Given the description of an element on the screen output the (x, y) to click on. 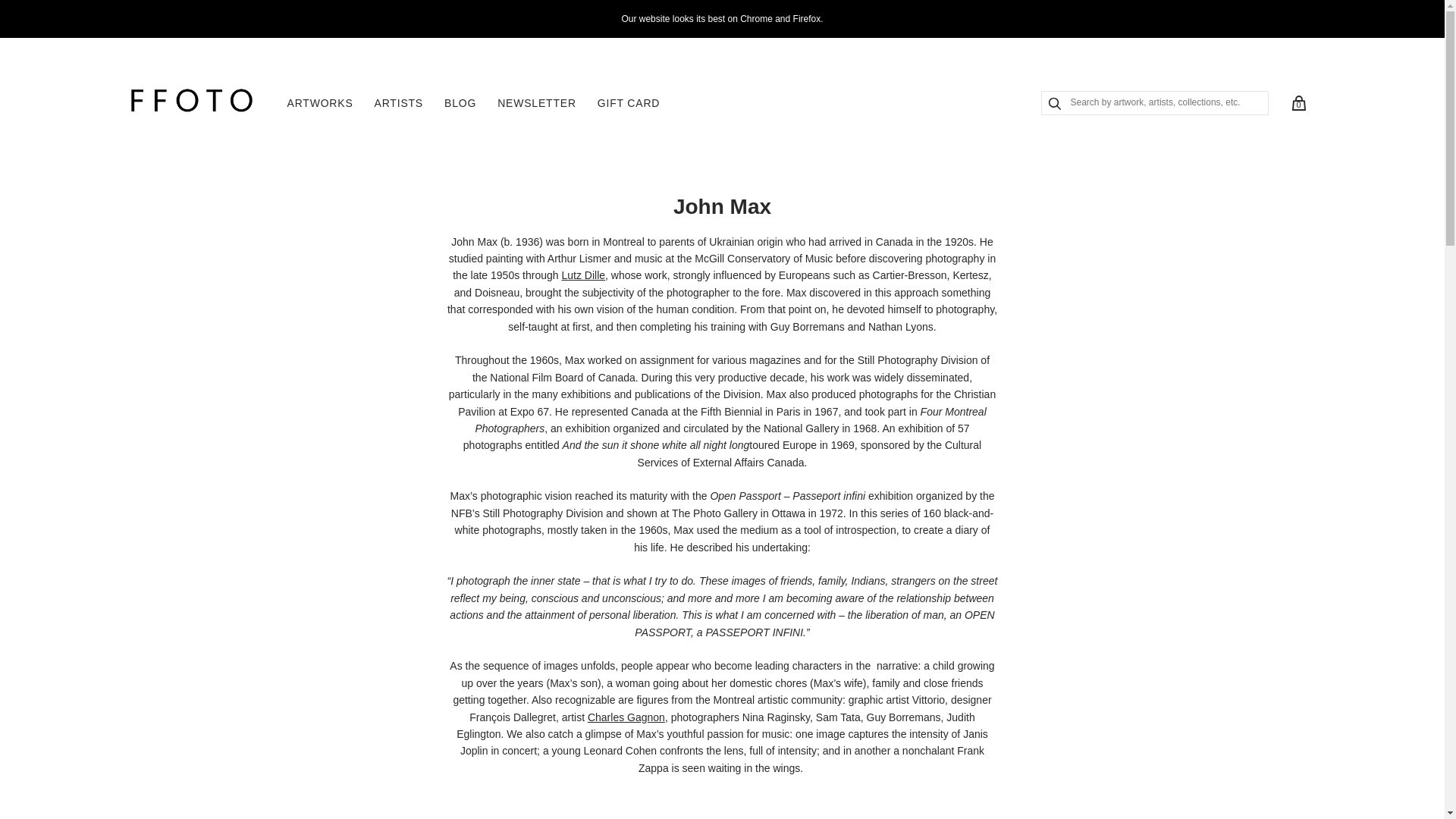
0 (1299, 102)
BLOG (459, 102)
Lutz Dille (582, 275)
ARTISTS (398, 102)
GIFT CARD (627, 102)
NEWSLETTER (536, 102)
ARTWORKS (319, 102)
Charles Gagnon (626, 717)
